Given the description of an element on the screen output the (x, y) to click on. 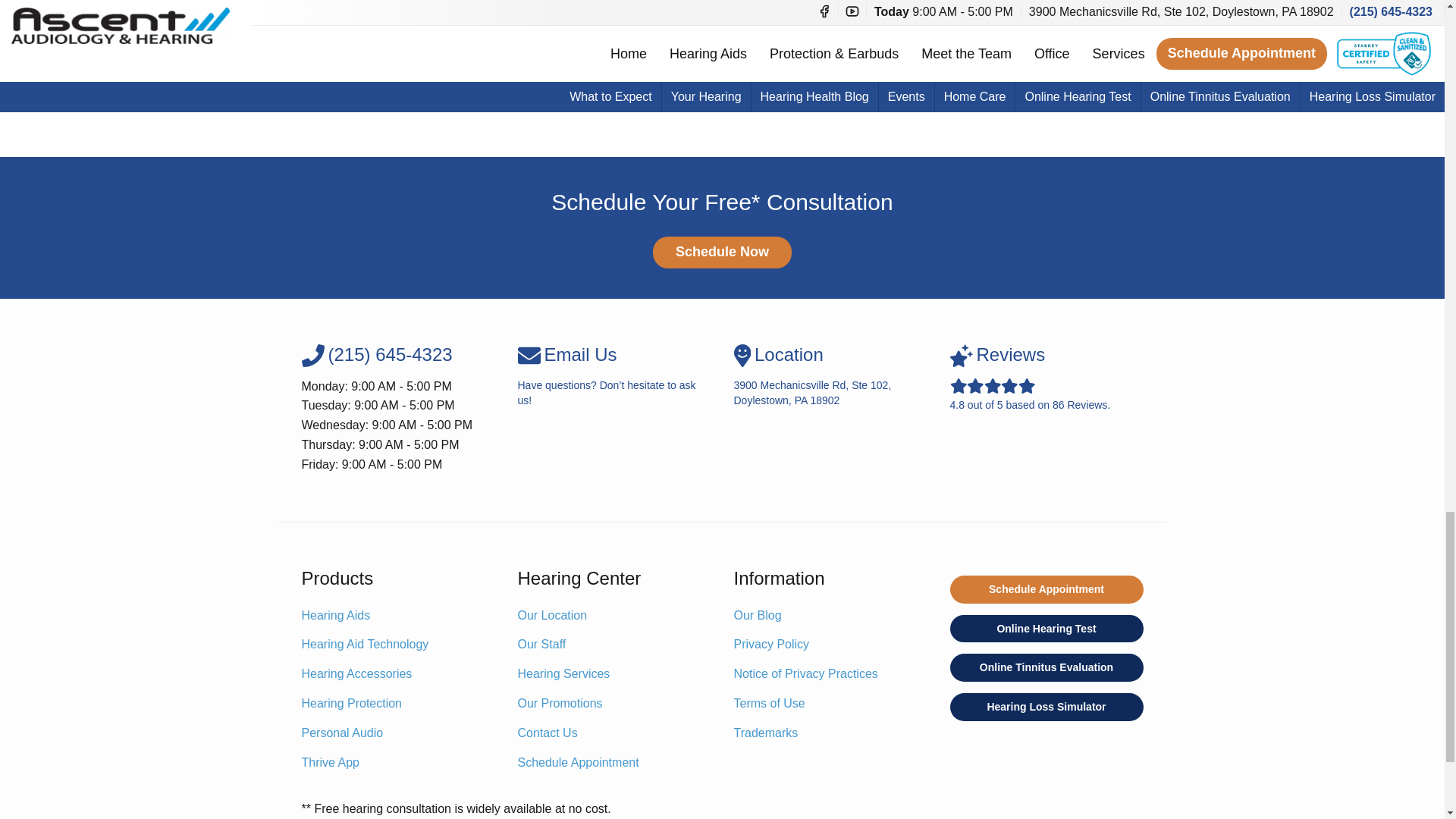
Schedule Now (722, 252)
Hearing Aids (336, 616)
